Given the description of an element on the screen output the (x, y) to click on. 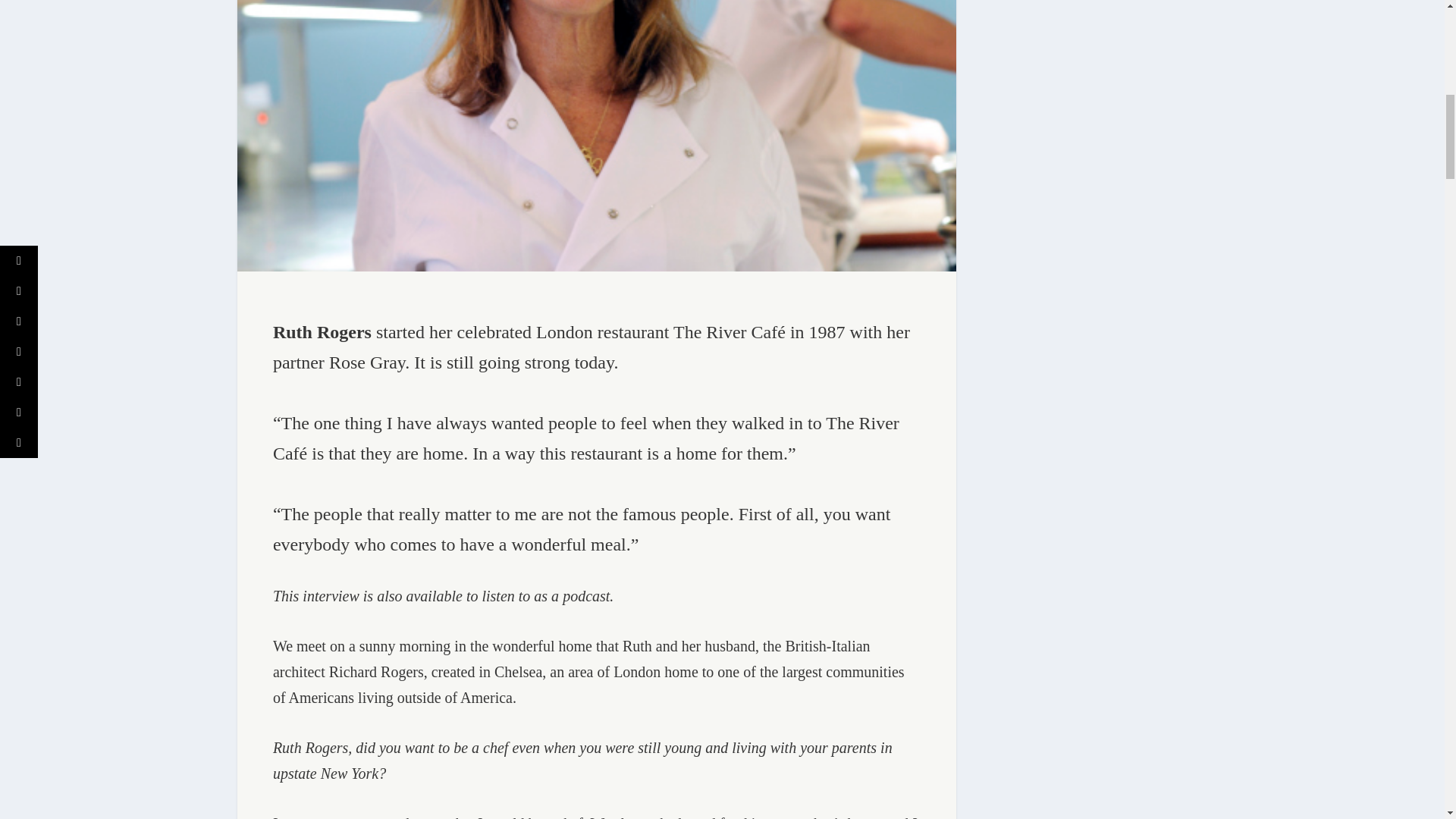
Rose Gray (366, 362)
Chelsea (518, 671)
Richard Rogers (376, 671)
podcast (586, 596)
